Given the description of an element on the screen output the (x, y) to click on. 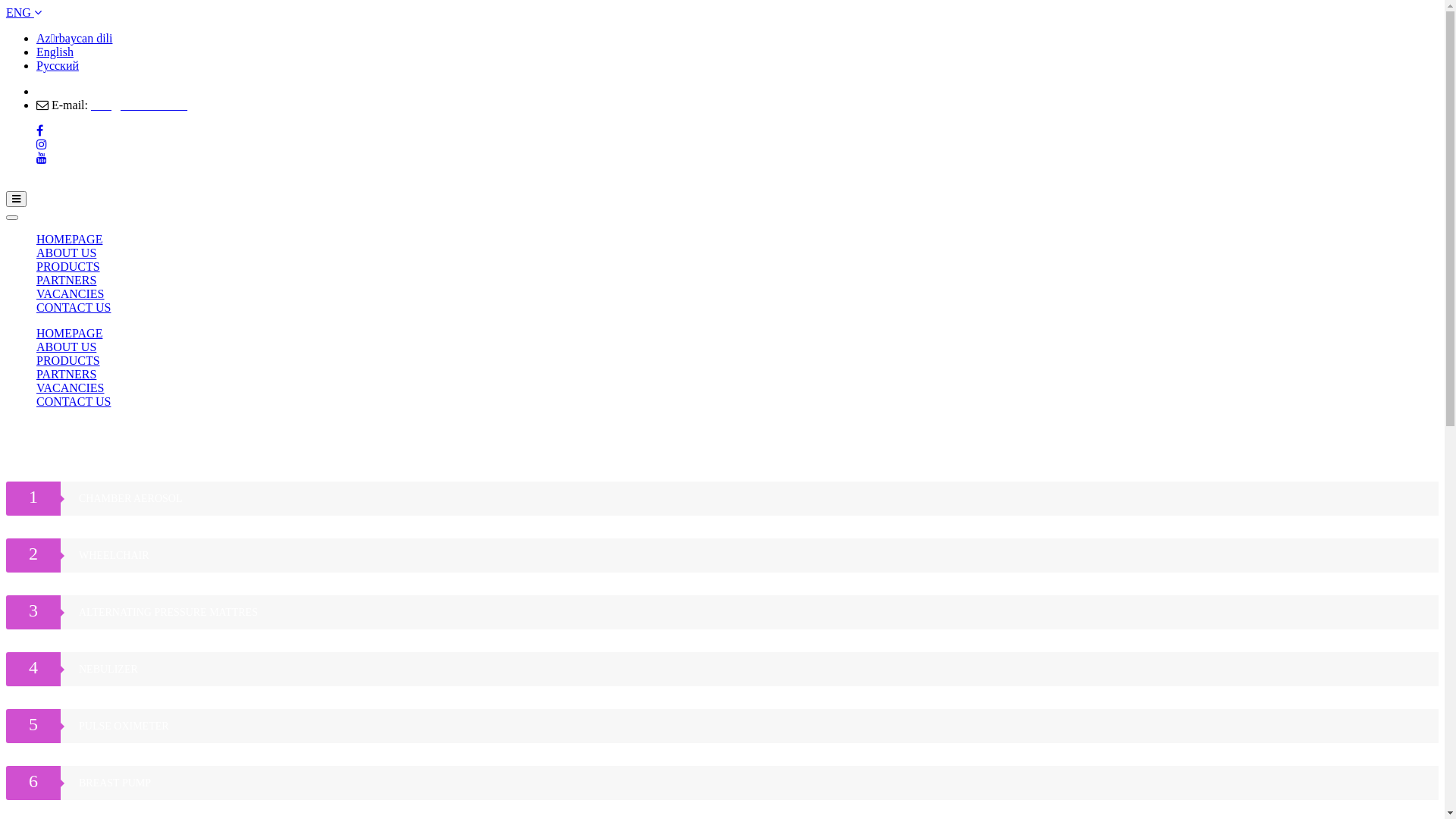
VACANCIES Element type: text (70, 387)
English Element type: text (54, 51)
ENG Element type: text (23, 12)
ABOUT US Element type: text (66, 346)
CONTACT US Element type: text (73, 401)
HOMEPAGE Element type: text (69, 332)
HOMEPAGE Element type: text (69, 238)
info@setmedical.az Element type: text (139, 104)
VACANCIES Element type: text (70, 293)
ABOUT US Element type: text (66, 252)
Tel: (+994 12) 409 80 88 Element type: text (103, 90)
PARTNERS Element type: text (66, 279)
PRODUCTS Element type: text (68, 360)
PRODUCTS Element type: text (68, 266)
PARTNERS Element type: text (66, 373)
CONTACT US Element type: text (73, 307)
